Given the description of an element on the screen output the (x, y) to click on. 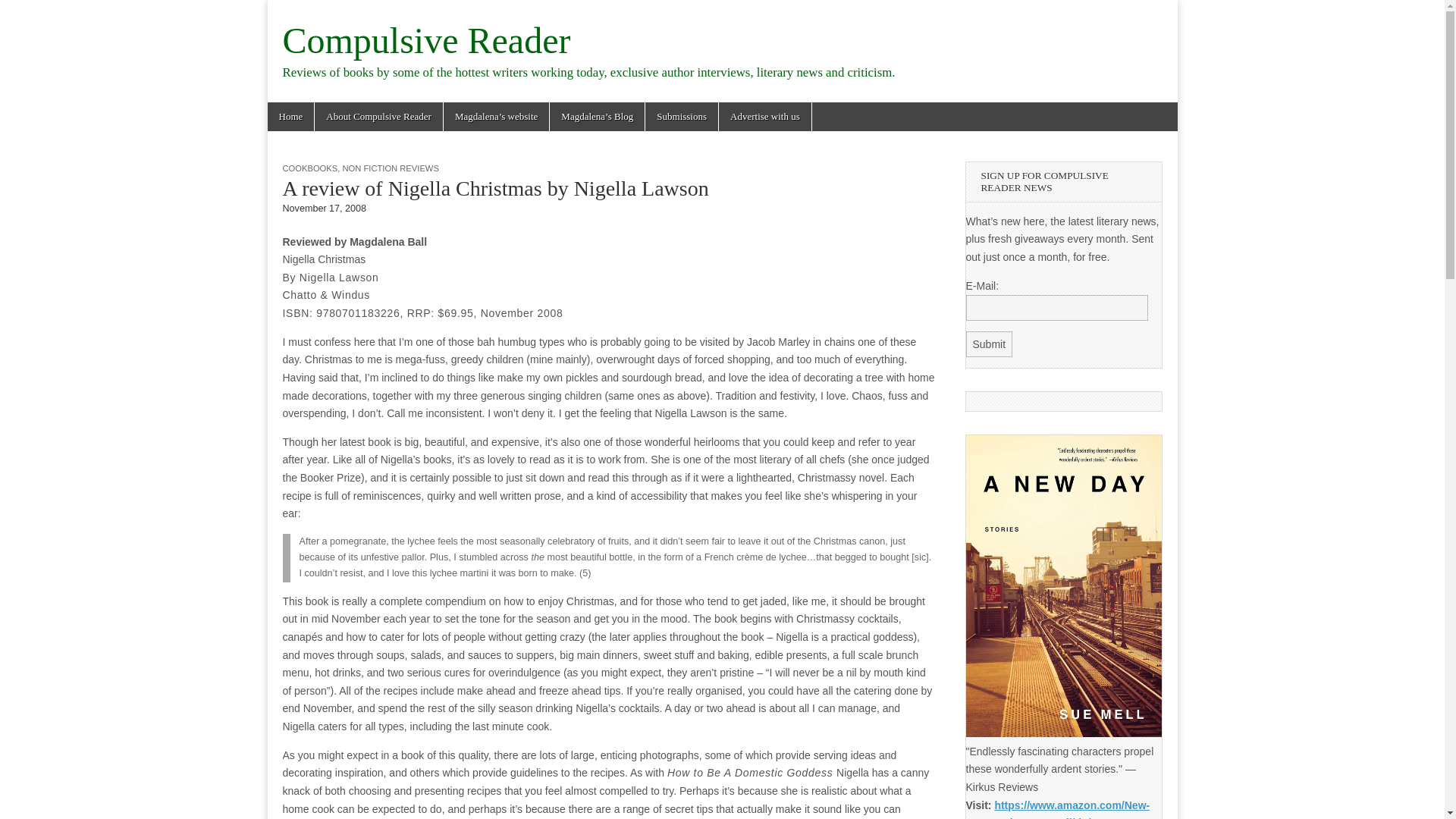
Compulsive Reader (426, 40)
About Compulsive Reader (378, 116)
Submissions (681, 116)
Compulsive Reader (426, 40)
Advertise with us (764, 116)
Search (23, 12)
Home (290, 116)
Submit (989, 344)
